Given the description of an element on the screen output the (x, y) to click on. 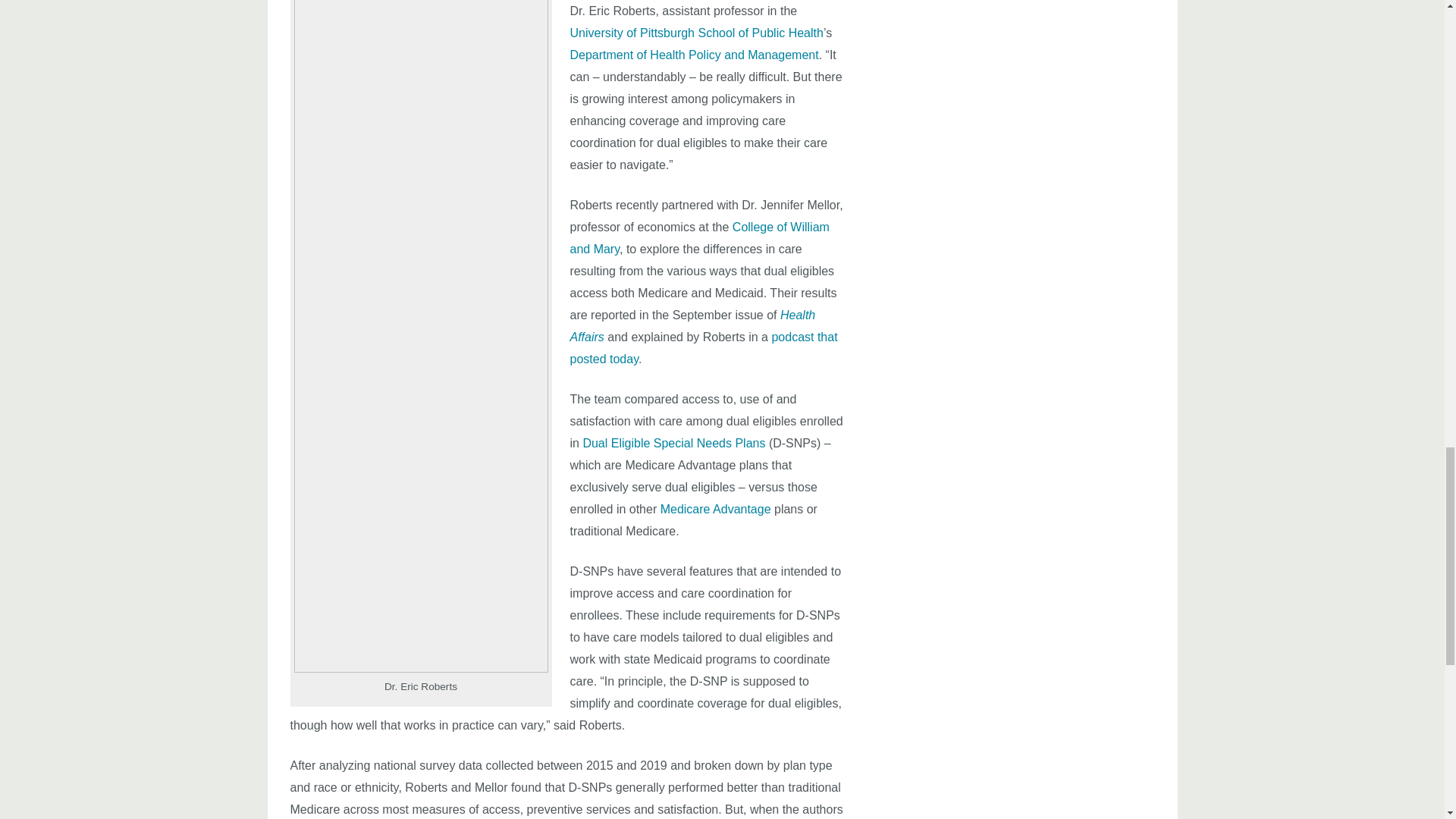
Medicare Advantage (716, 508)
University of Pittsburgh School of Public Health (697, 32)
Dual Eligible Special Needs Plans (673, 442)
Department of Health Policy and Management (694, 54)
Health Affairs (692, 325)
College of William and Mary (699, 237)
podcast that posted today (704, 347)
